Given the description of an element on the screen output the (x, y) to click on. 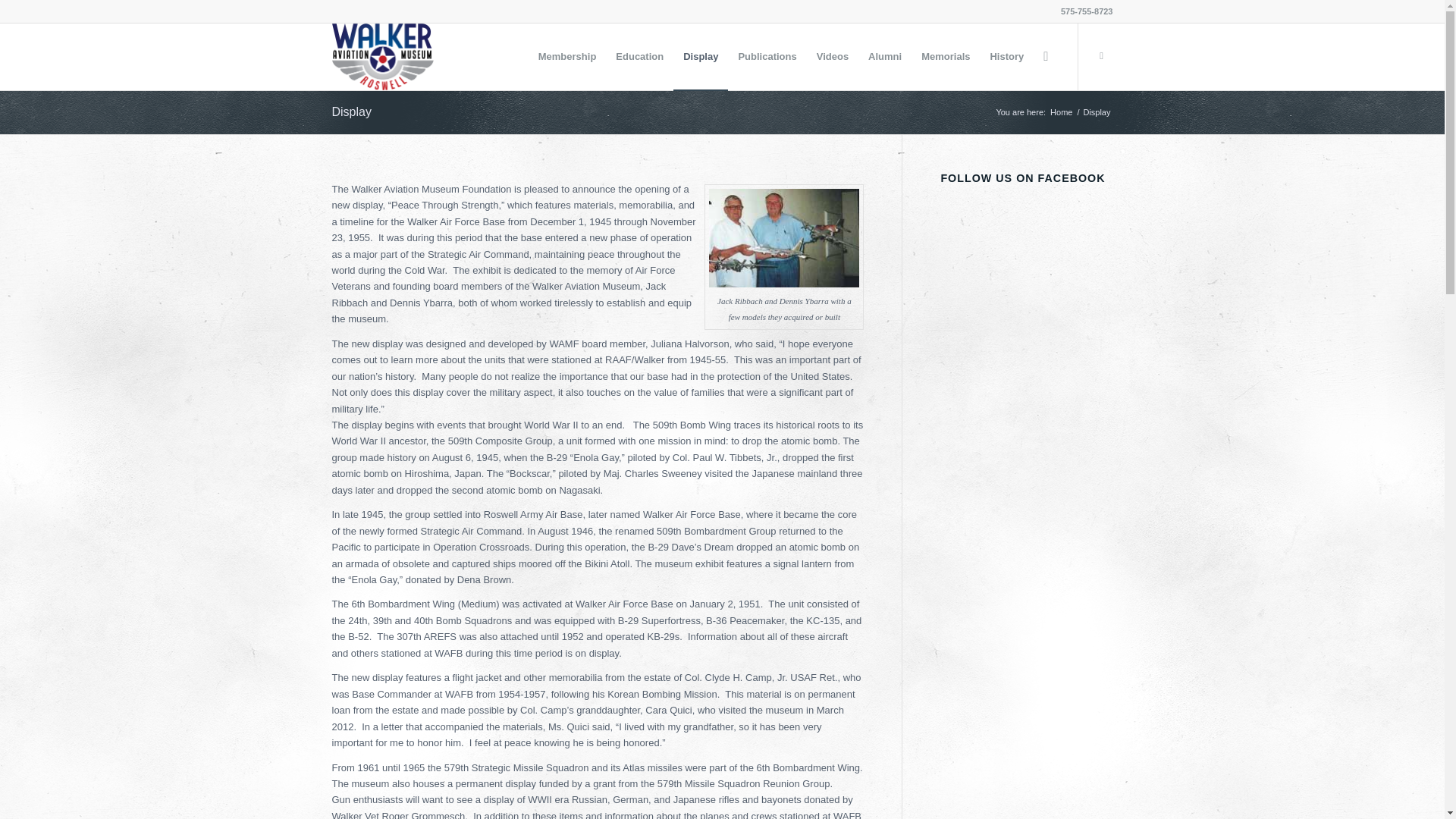
walker-logo (382, 56)
Memorials (945, 56)
Education (638, 56)
Publications (767, 56)
Permanent Link: Display (351, 111)
Walker Aviation Museum (1061, 112)
Facebook (1101, 56)
Membership (567, 56)
